Given the description of an element on the screen output the (x, y) to click on. 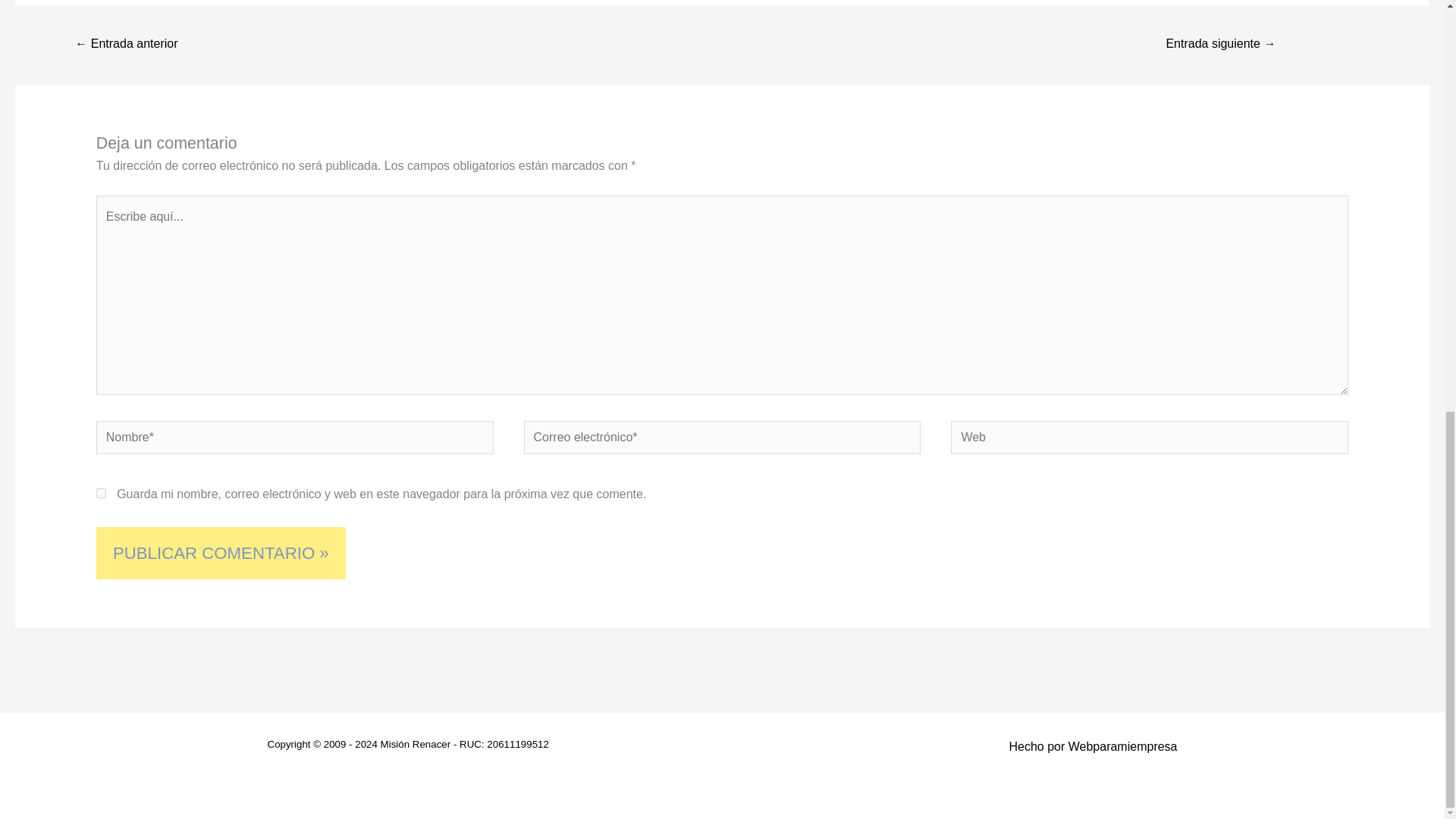
If you should Meet Online Dating Partners (125, 44)
yes (101, 492)
